Given the description of an element on the screen output the (x, y) to click on. 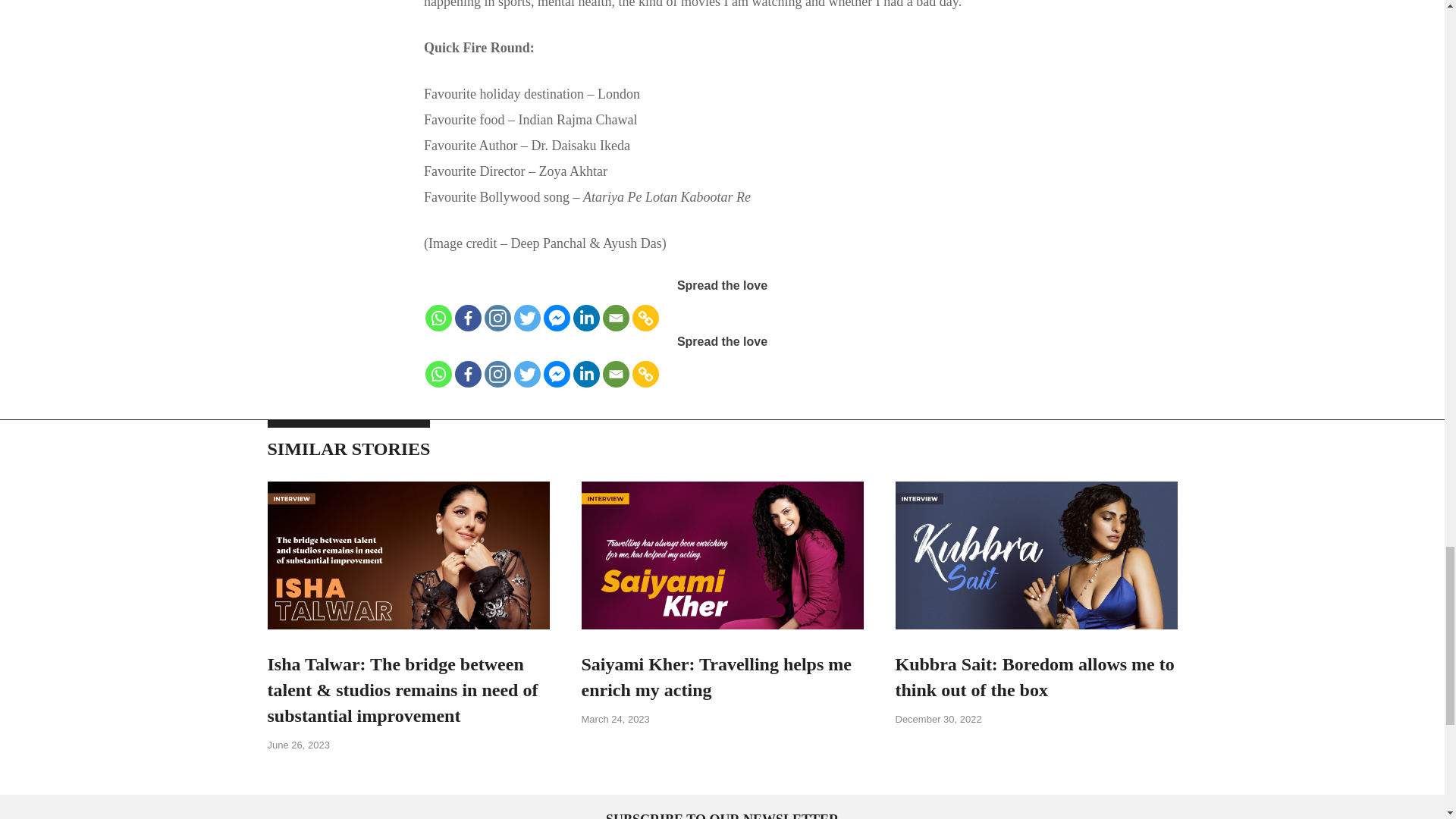
Twitter (526, 317)
Email (615, 374)
Linkedin (586, 317)
Twitter (526, 374)
Instagram (497, 374)
Instagram (497, 317)
Copy Link (645, 374)
Whatsapp (438, 374)
Linkedin (586, 374)
Facebook Messenger (556, 374)
Facebook (467, 374)
Whatsapp (438, 317)
Facebook (467, 317)
Saiyami Kher: Travelling helps me enrich my acting (715, 677)
Email (615, 317)
